Given the description of an element on the screen output the (x, y) to click on. 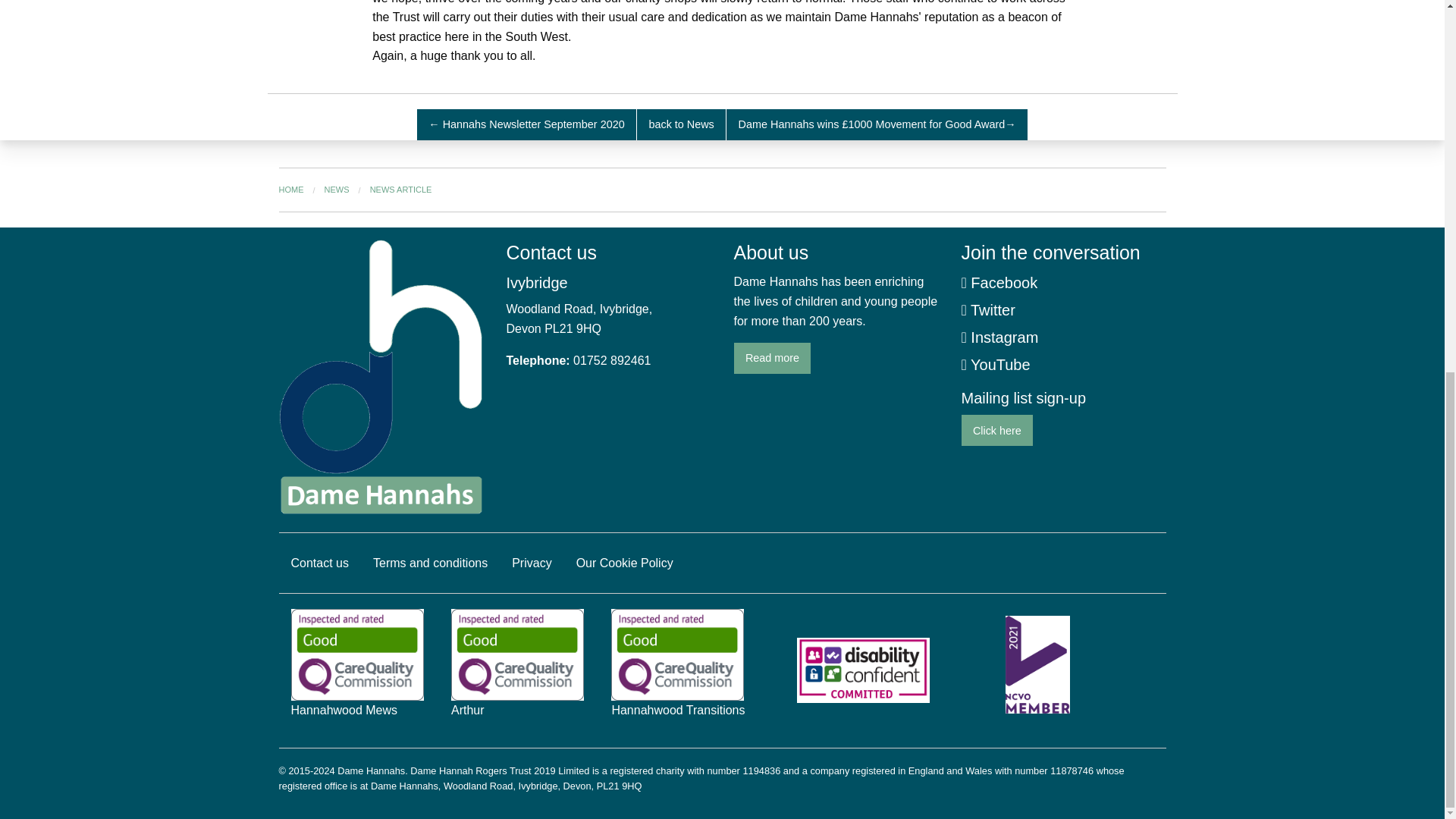
National Volunteers (1037, 670)
Hannahwood Mews (357, 670)
Hannahwood Transitions (677, 670)
Arthur (517, 670)
Disability Confident (863, 669)
